Given the description of an element on the screen output the (x, y) to click on. 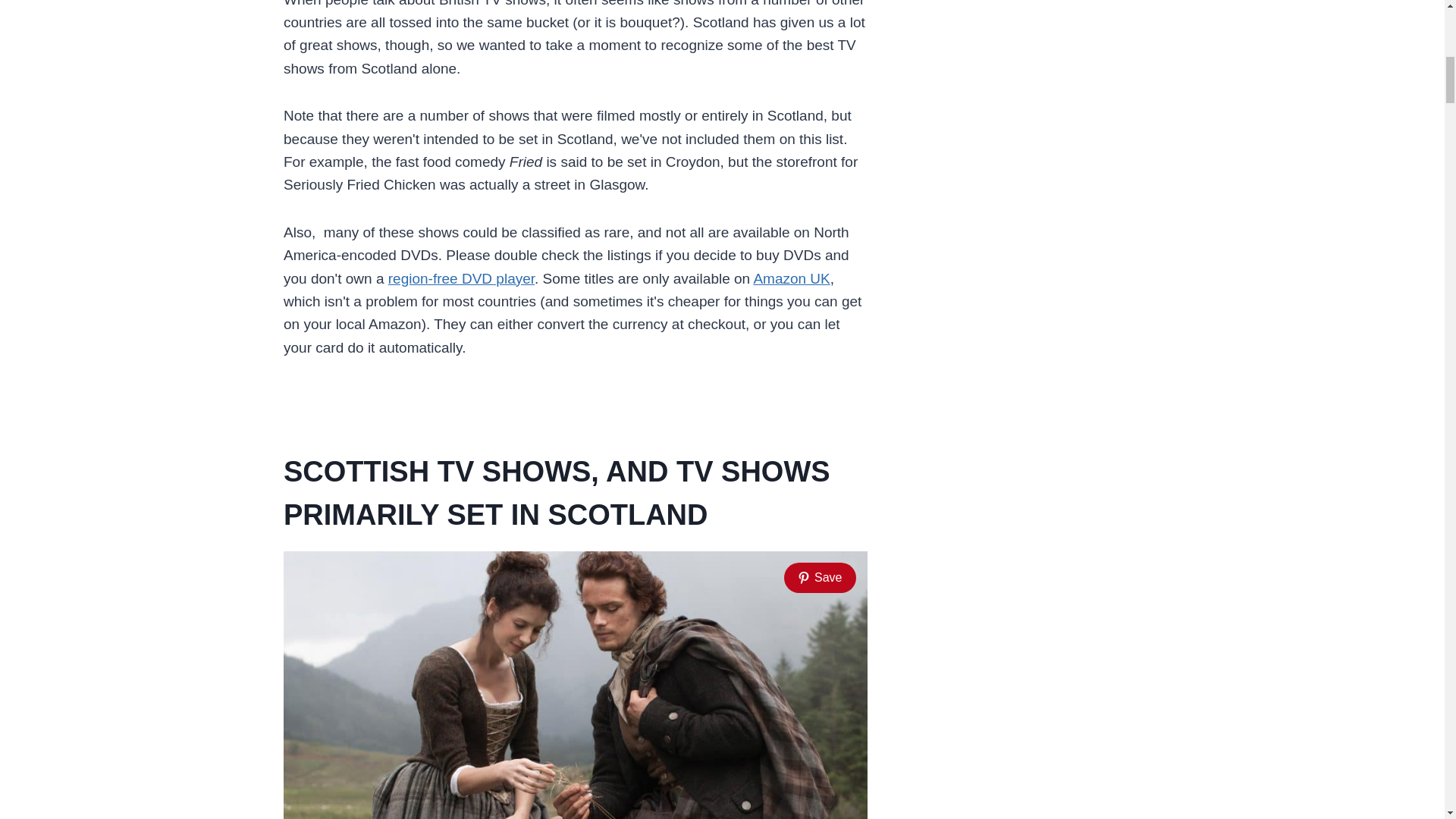
region-free DVD player (461, 278)
Amazon UK (790, 278)
